Given the description of an element on the screen output the (x, y) to click on. 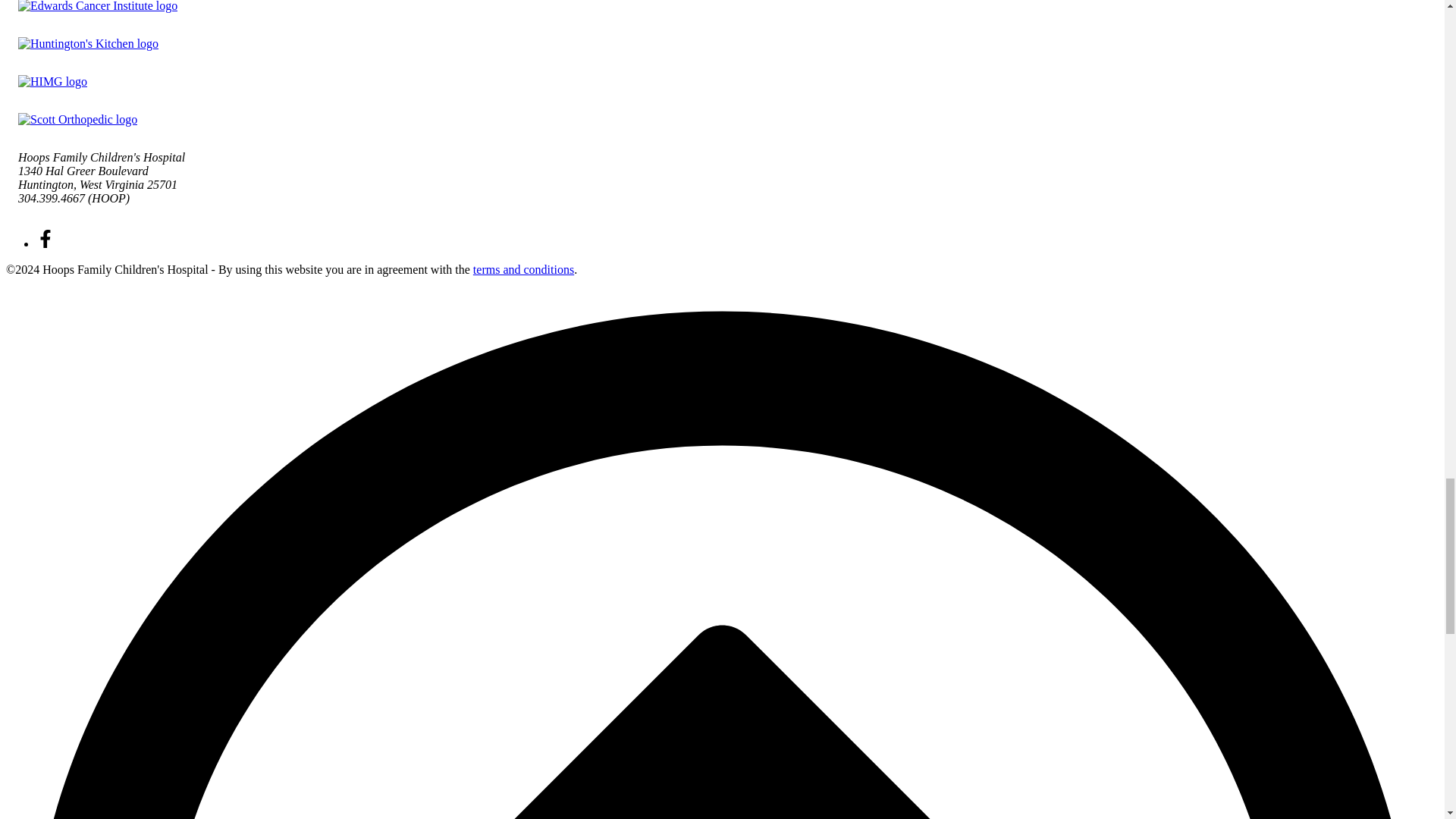
Facebook (45, 243)
